Given the description of an element on the screen output the (x, y) to click on. 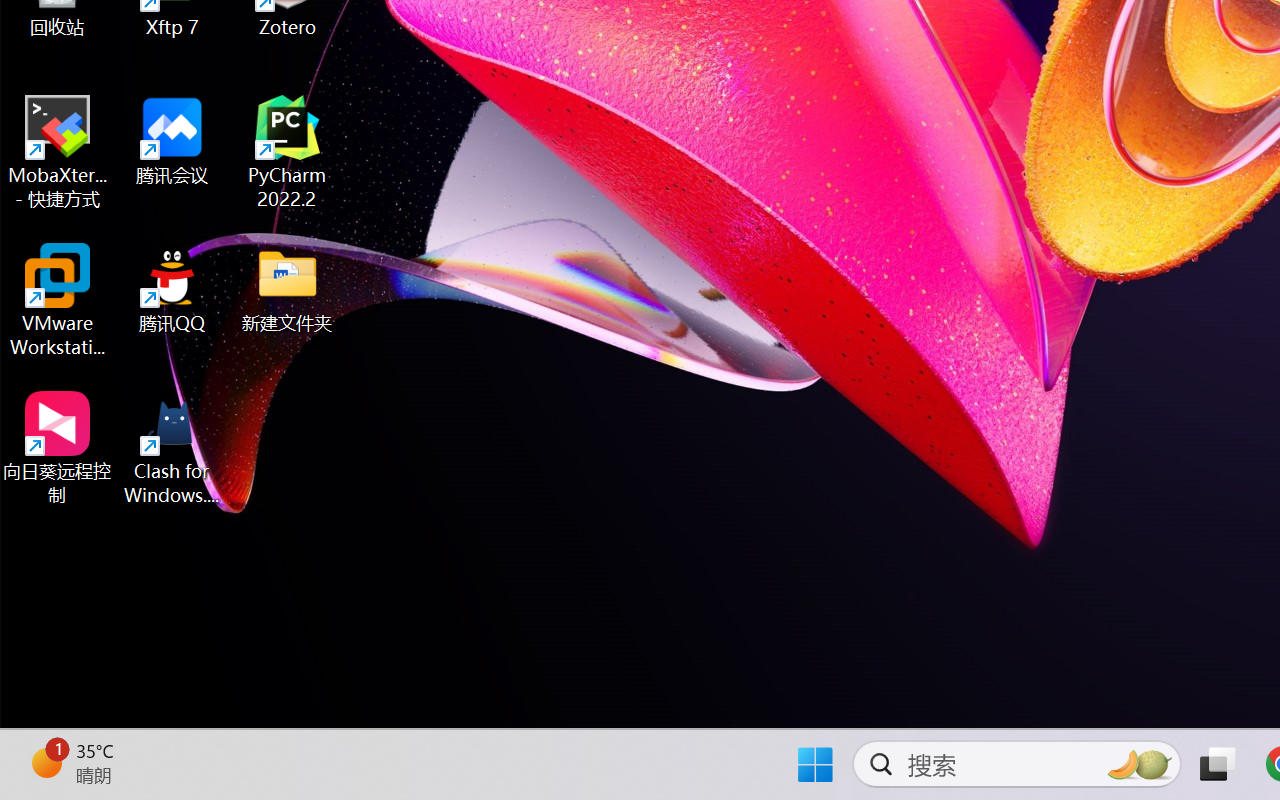
PyCharm 2022.2 (287, 152)
VMware Workstation Pro (57, 300)
